Given the description of an element on the screen output the (x, y) to click on. 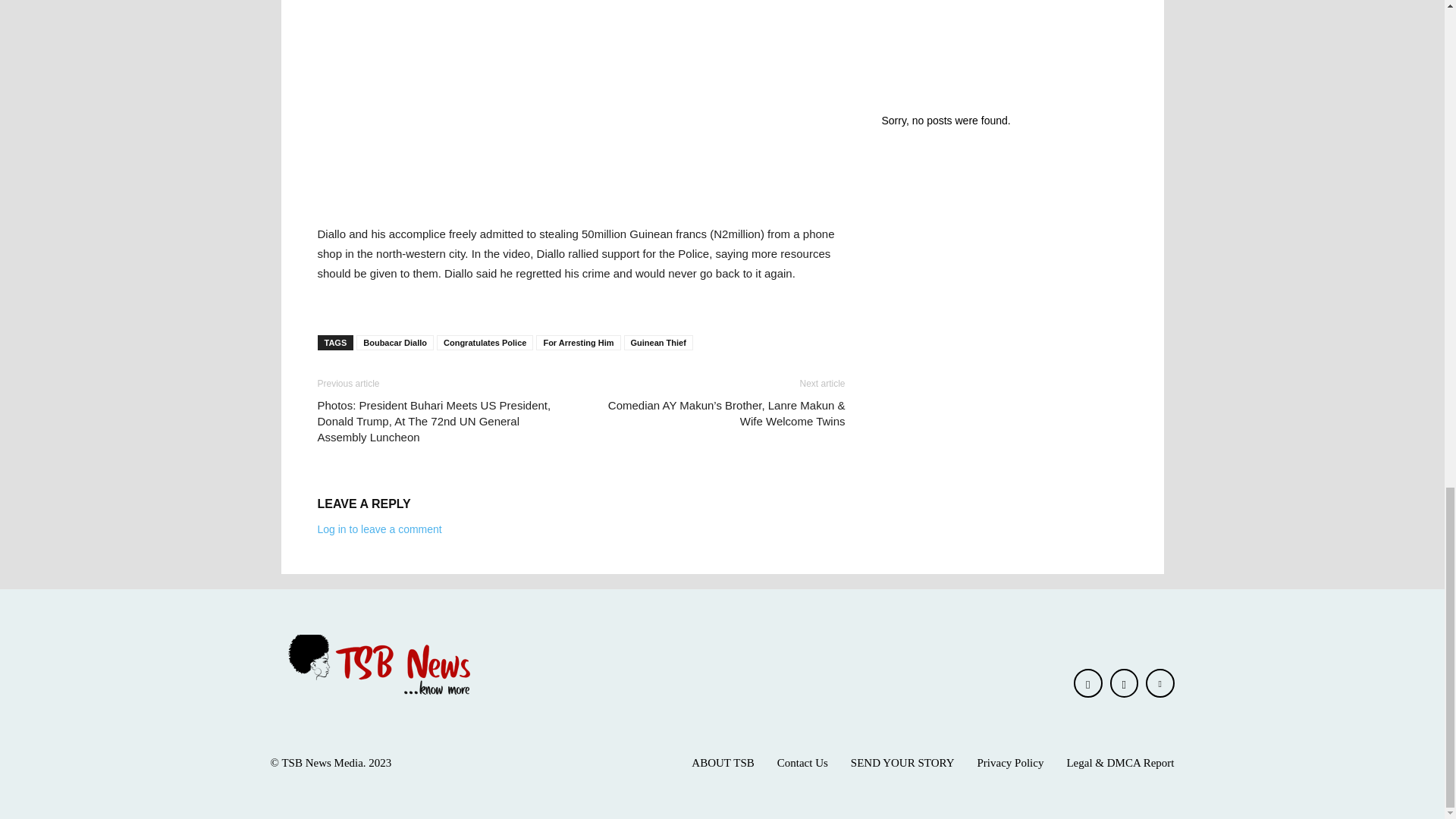
Congratulates Police (484, 342)
For Arresting Him (577, 342)
Boubacar Diallo (394, 342)
